Given the description of an element on the screen output the (x, y) to click on. 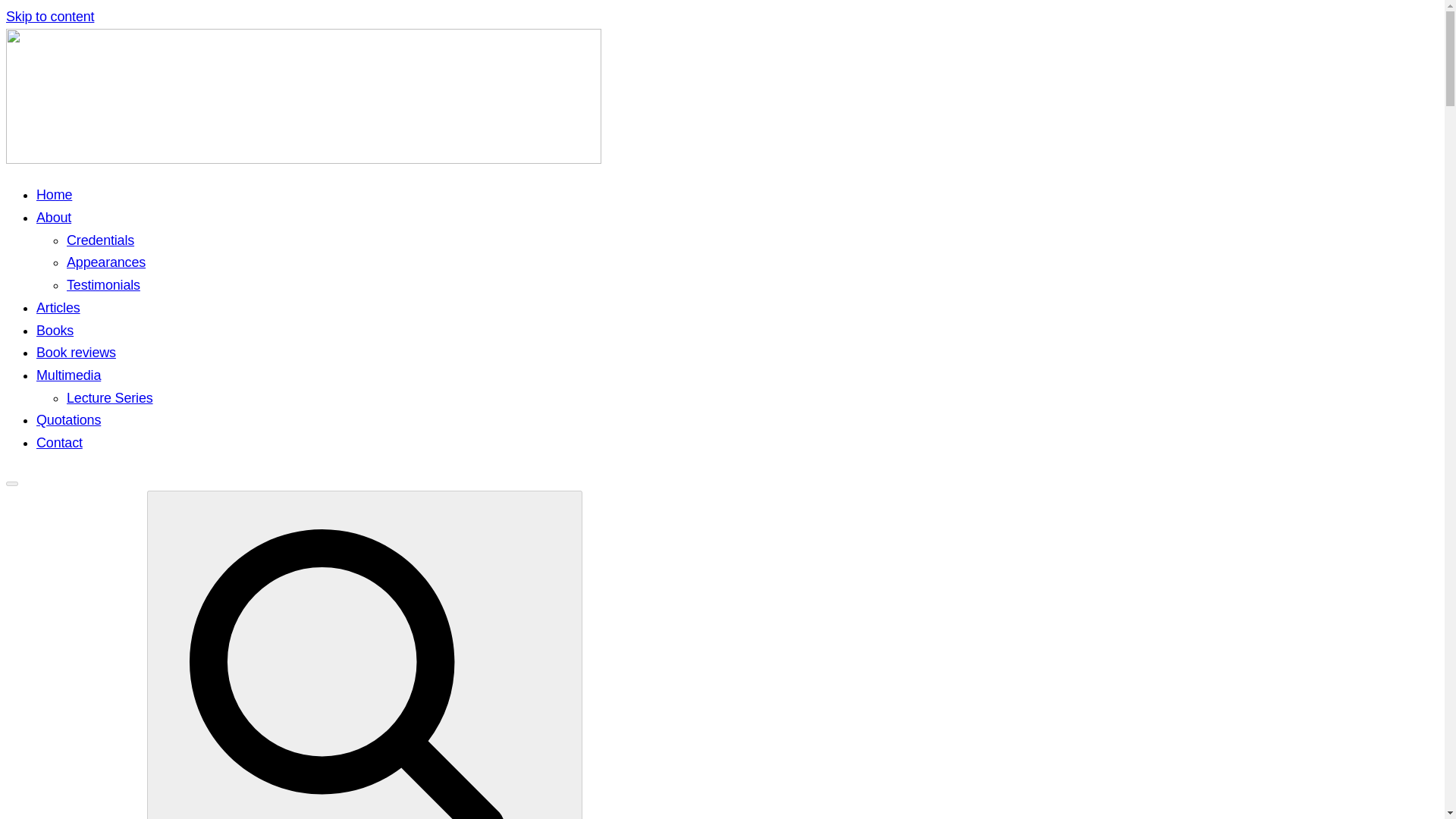
Multimedia (68, 375)
Lecture Series (109, 397)
Books (55, 330)
Appearances (105, 262)
Credentials (99, 240)
Home (53, 194)
Book reviews (76, 352)
About (53, 217)
Contact (59, 442)
